Given the description of an element on the screen output the (x, y) to click on. 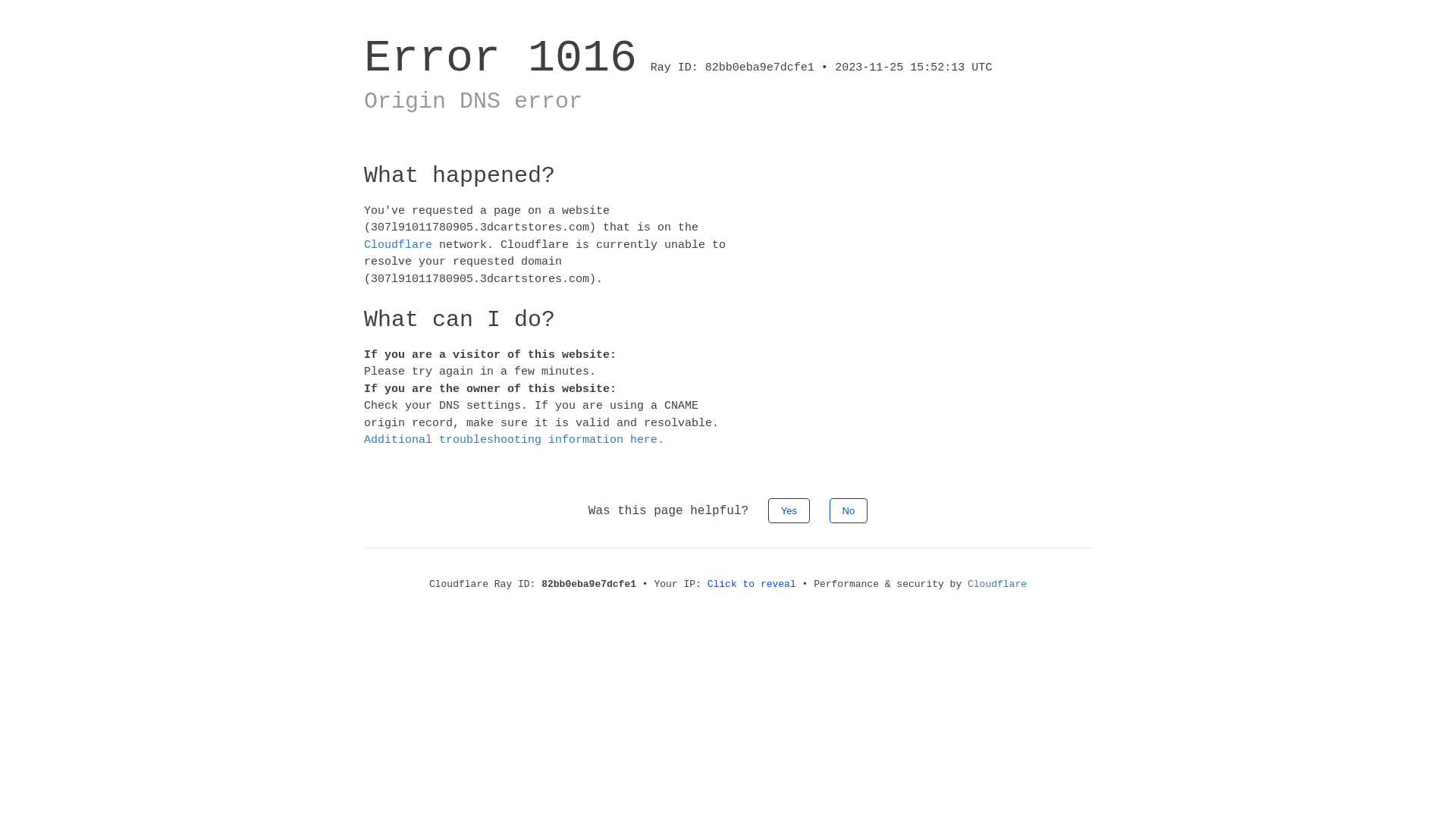
No Element type: text (848, 509)
Cloudflare Element type: text (996, 583)
Yes Element type: text (788, 509)
Cloudflare Element type: text (398, 244)
Additional troubleshooting information here. Element type: text (514, 439)
Click to reveal Element type: text (751, 583)
